Given the description of an element on the screen output the (x, y) to click on. 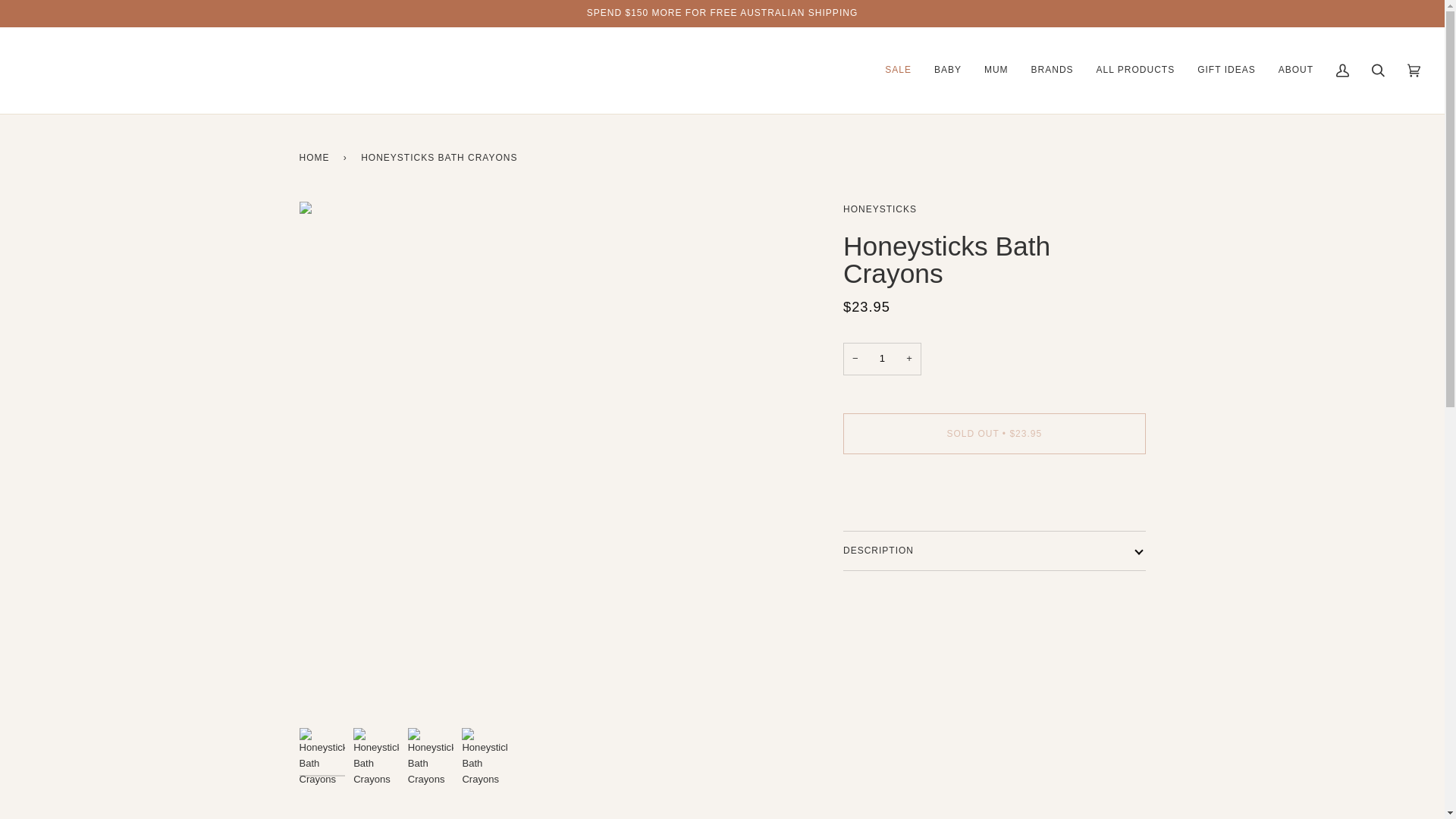
Back to the frontpage (316, 157)
1 (882, 359)
ALL PRODUCTS (1135, 70)
